Given the description of an element on the screen output the (x, y) to click on. 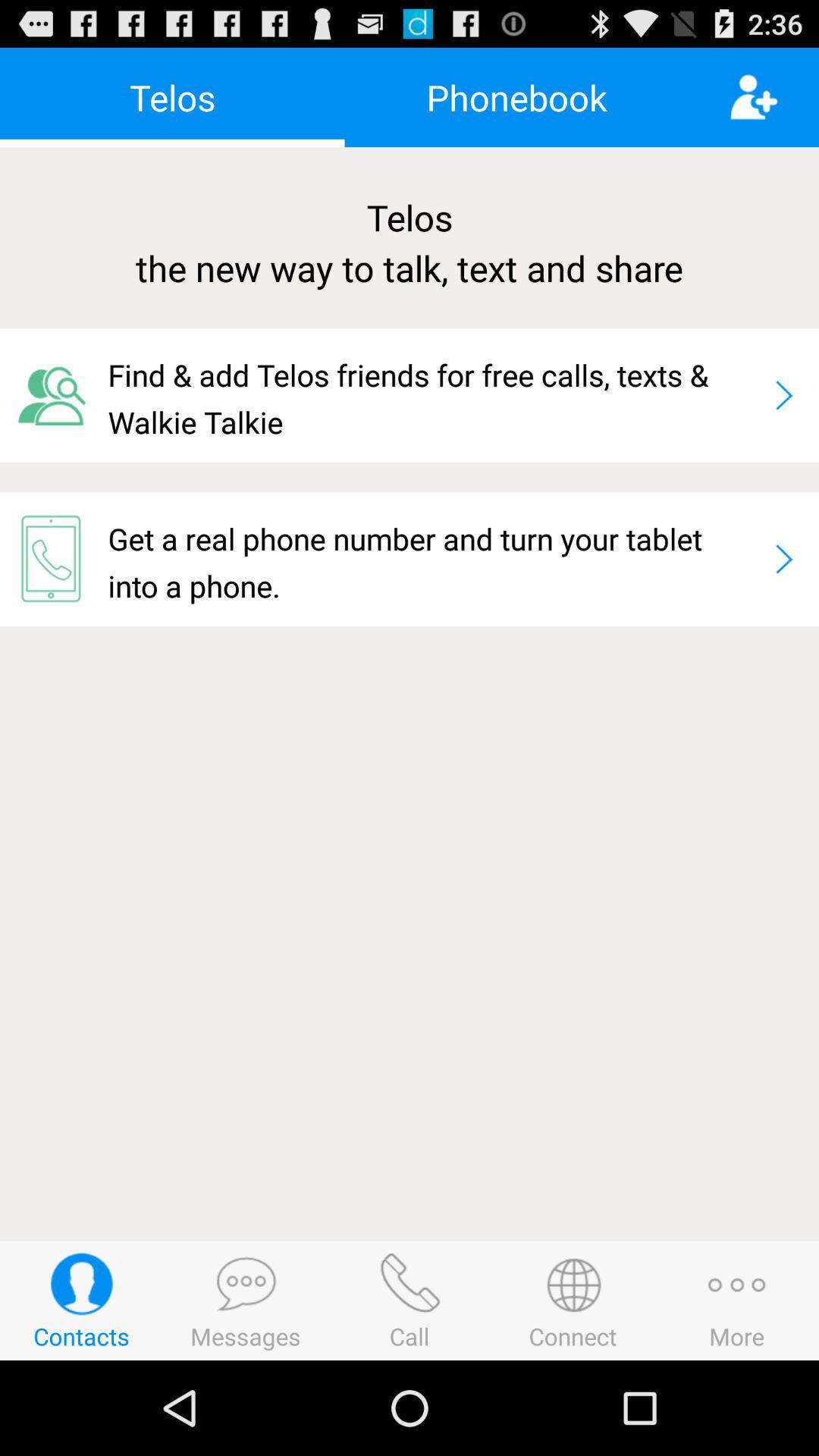
launch app next to find add telos icon (783, 395)
